Given the description of an element on the screen output the (x, y) to click on. 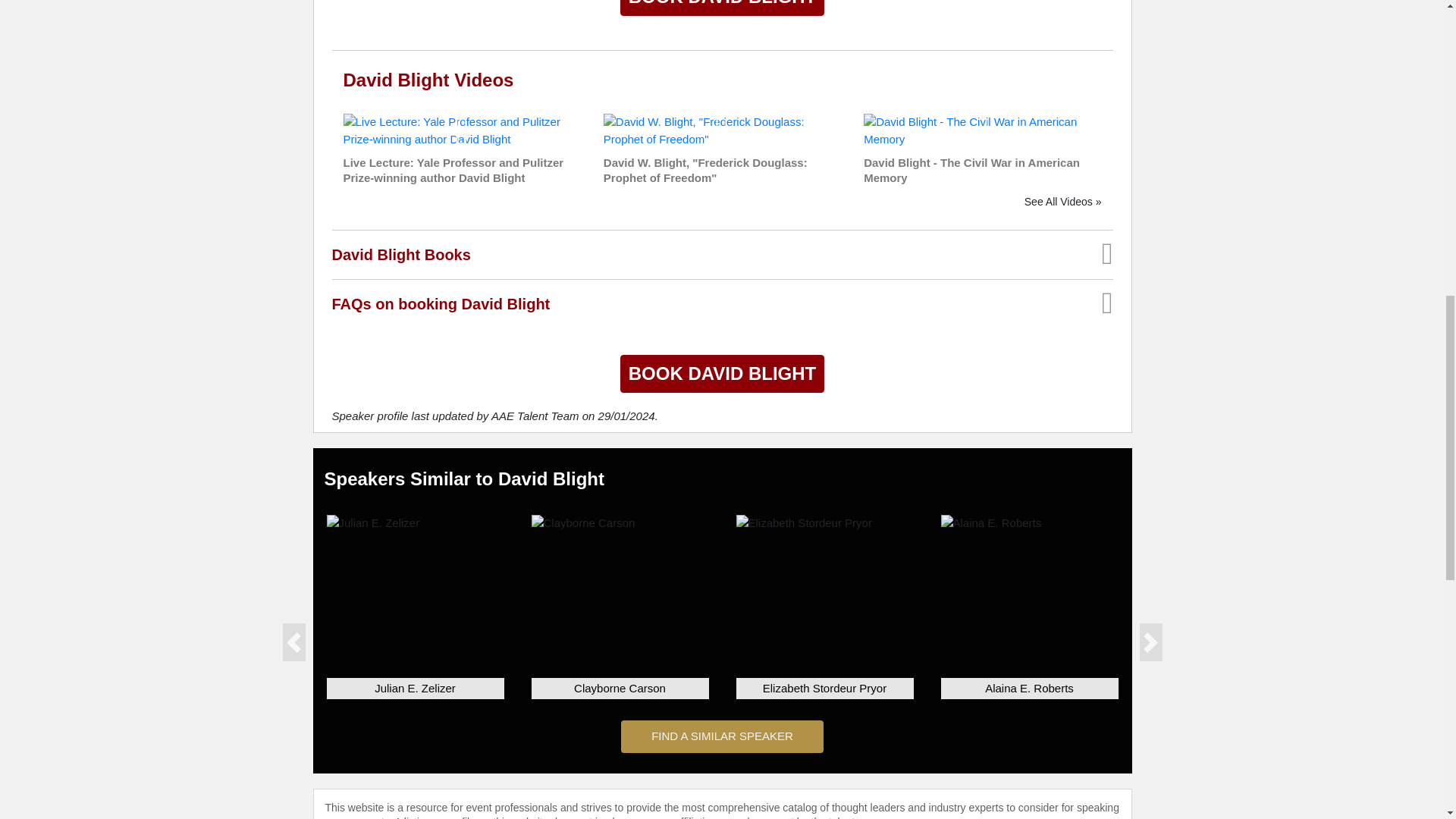
Elizabeth Stordeur Pryor (802, 523)
Julian E. Zelizer (372, 523)
David W. Blight, "Frederick Douglass: Prophet of Freedom" (722, 129)
David Blight - The Civil War in American Memory  (981, 129)
Clayborne Carson (582, 523)
